Given the description of an element on the screen output the (x, y) to click on. 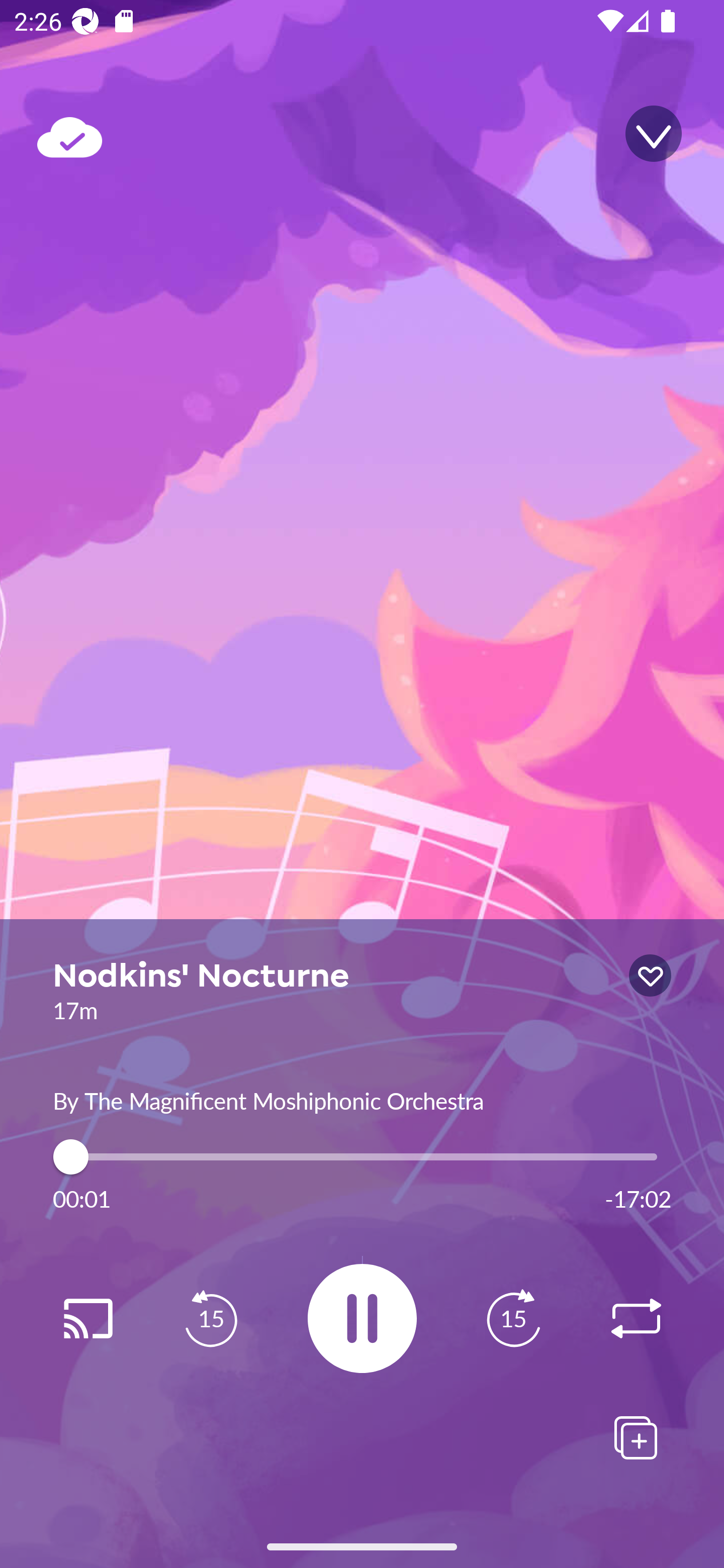
lock icon (650, 974)
9.794922E-4 Pause (361, 1317)
Replay (87, 1318)
Replay 15 (210, 1318)
Replay 15 (513, 1318)
Replay (635, 1318)
Add To Playlists (635, 1437)
